Given the description of an element on the screen output the (x, y) to click on. 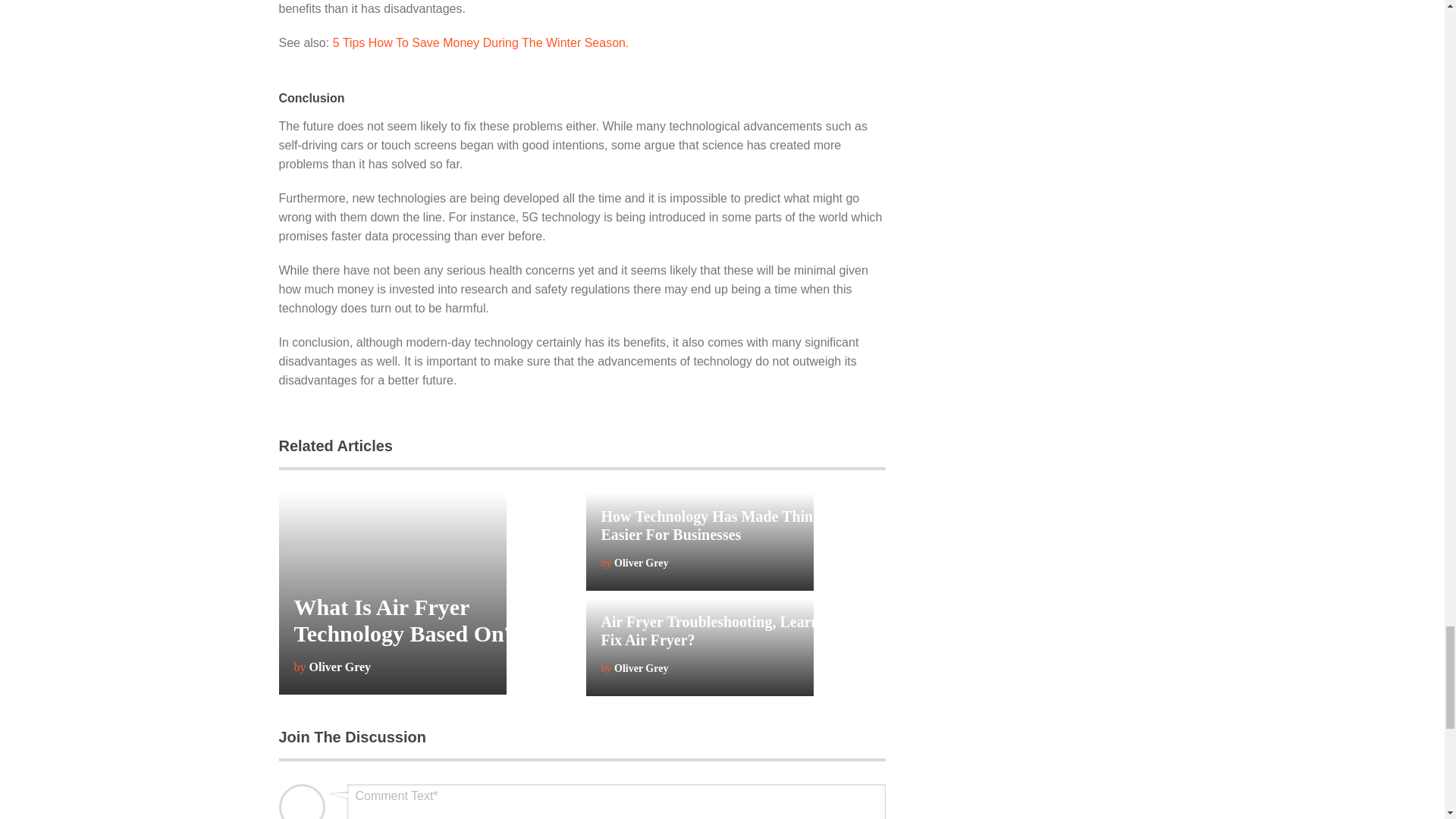
What Is Air Fryer Technology Based On? (404, 620)
Air Fryer Troubleshooting, Learn How to Fix Air Fryer? (734, 630)
What Is Air Fryer Technology Based On? (404, 620)
5 Tips How To Save Money During The Winter Season. (480, 42)
How Technology Has Made Things Easier For Businesses (712, 524)
How Technology Has Made Things Easier For Businesses (712, 524)
